Given the description of an element on the screen output the (x, y) to click on. 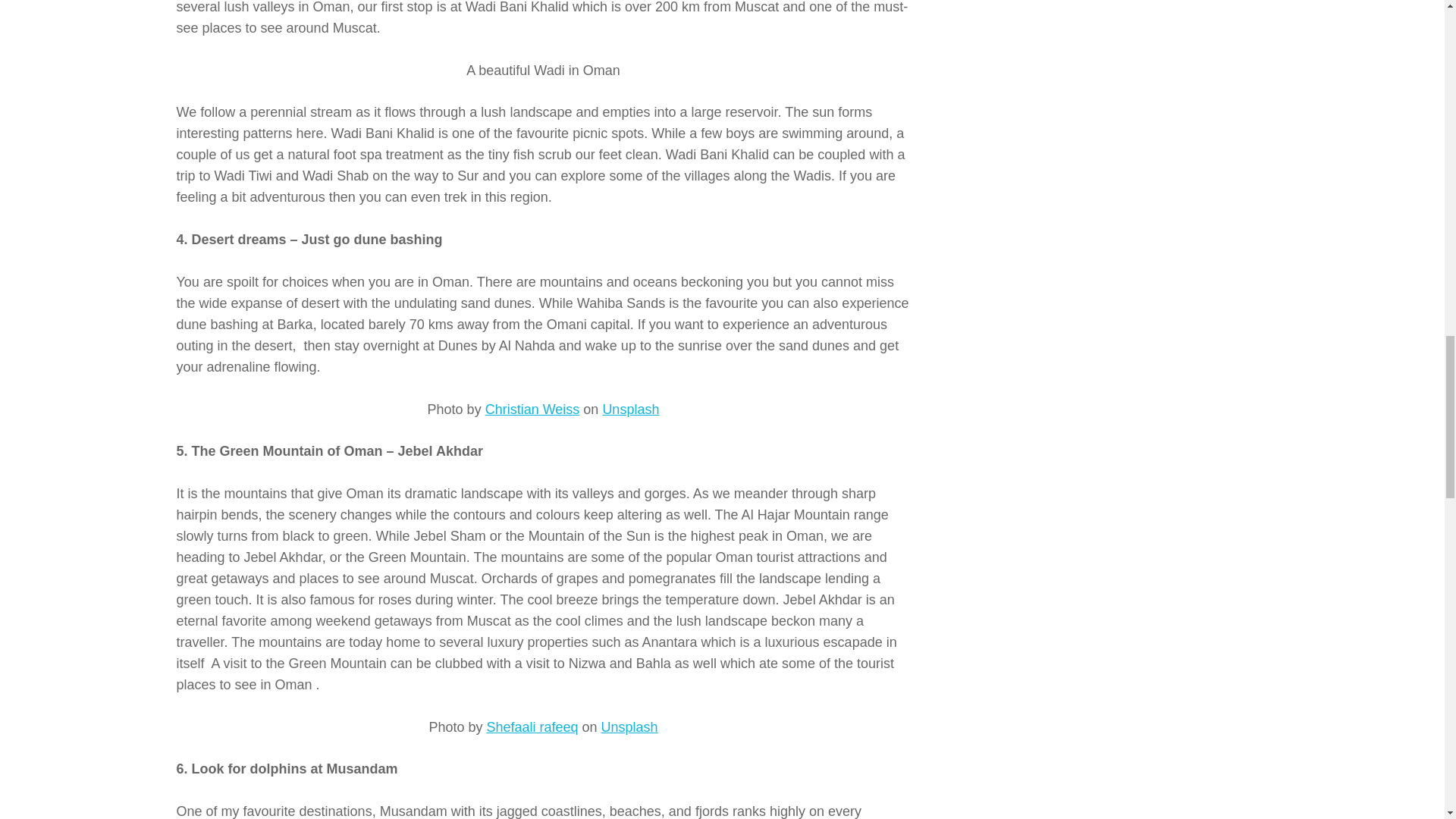
Unsplash (630, 409)
Shefaali rafeeq (532, 726)
Unsplash (629, 726)
Christian Weiss (531, 409)
